Given the description of an element on the screen output the (x, y) to click on. 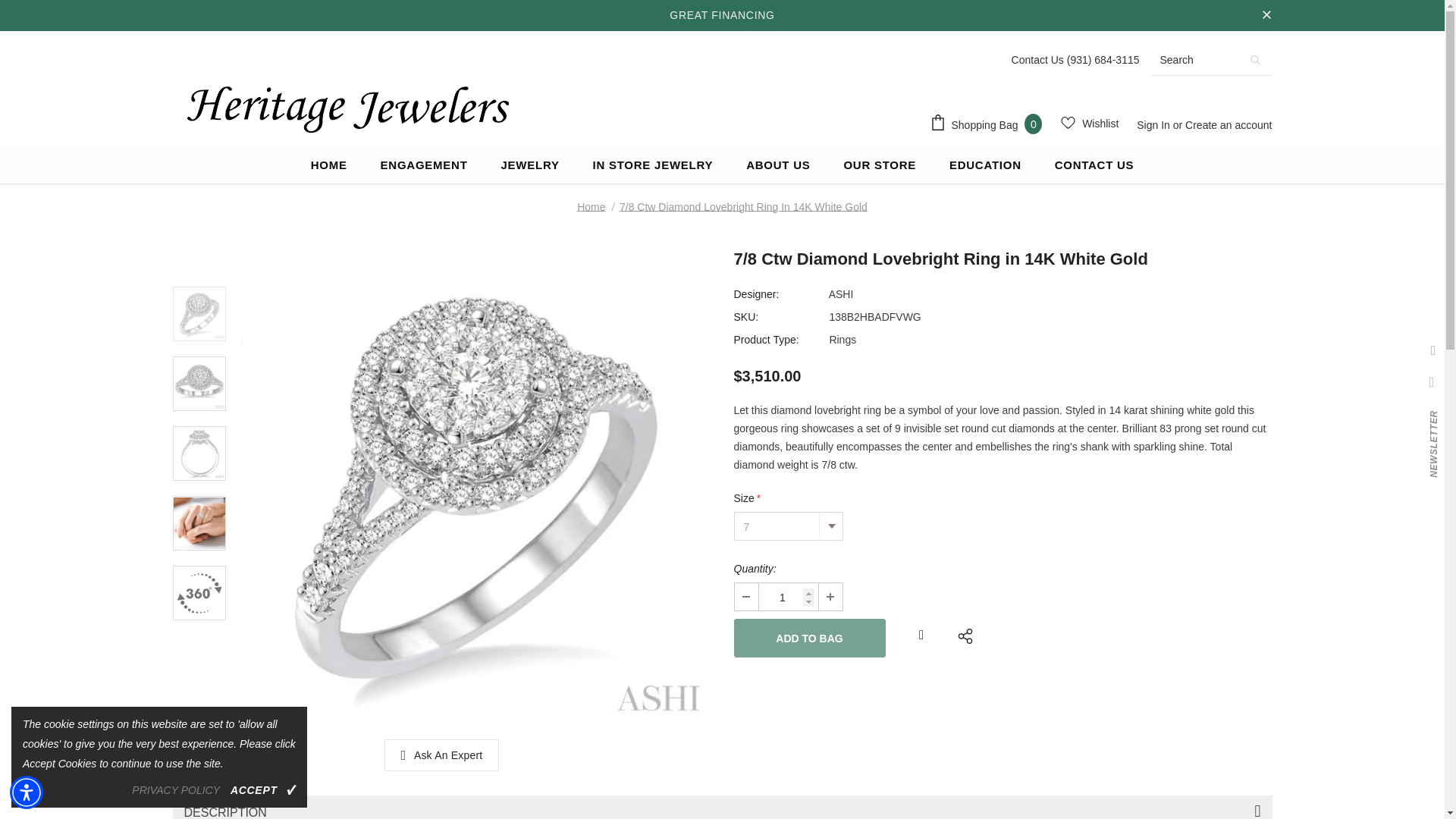
close (1266, 14)
Add to Bag (809, 638)
Accessibility Menu (26, 792)
1 (787, 596)
